Given the description of an element on the screen output the (x, y) to click on. 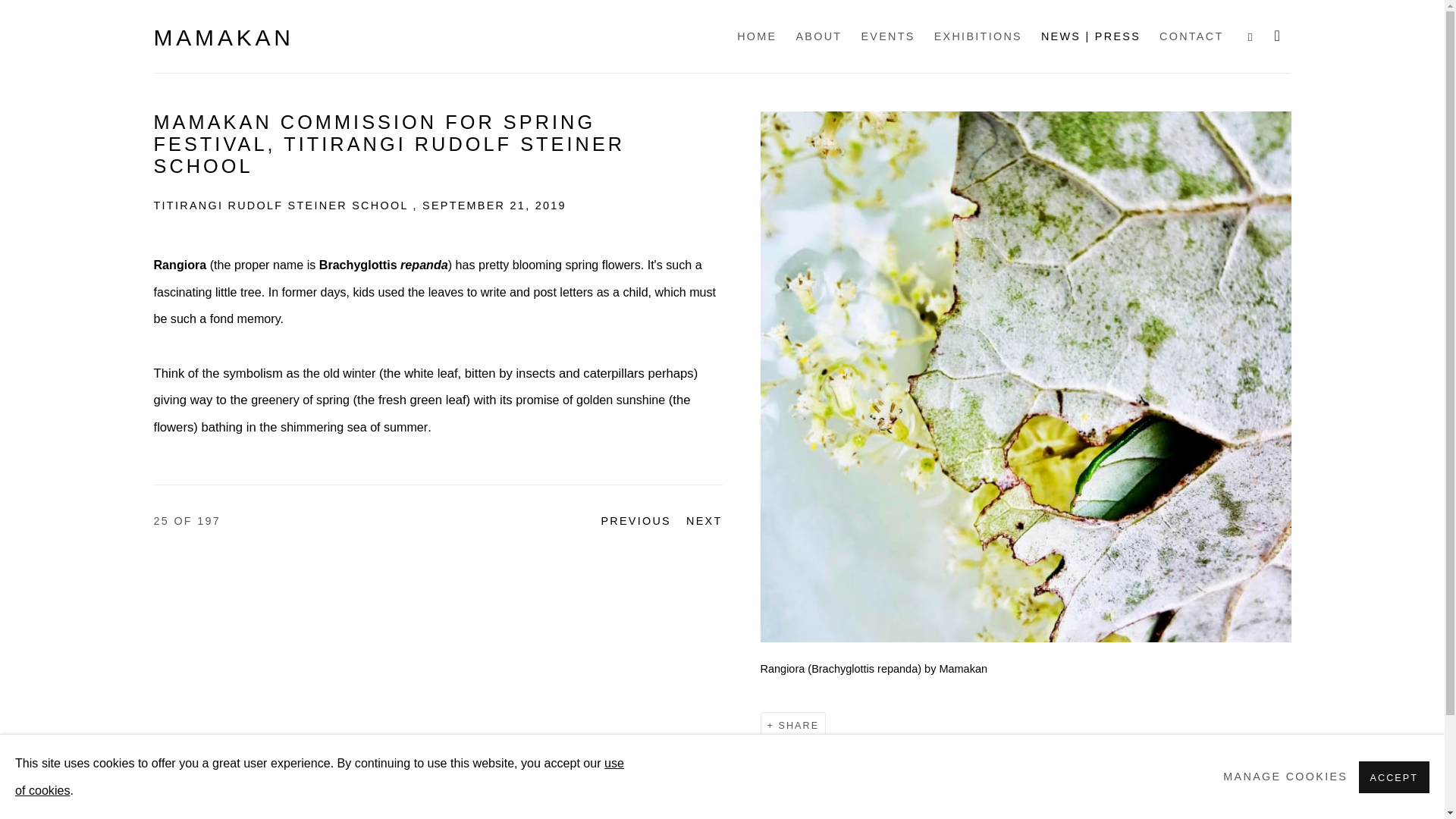
ACCEPT (1393, 776)
PREVIOUS (635, 521)
use of cookies (319, 775)
MAMAKAN (223, 37)
EXHIBITIONS (978, 36)
MANAGE COOKIES (1285, 777)
EVENTS (887, 36)
SHARE (793, 725)
CONTACT (1190, 36)
Go (10, 5)
